Given the description of an element on the screen output the (x, y) to click on. 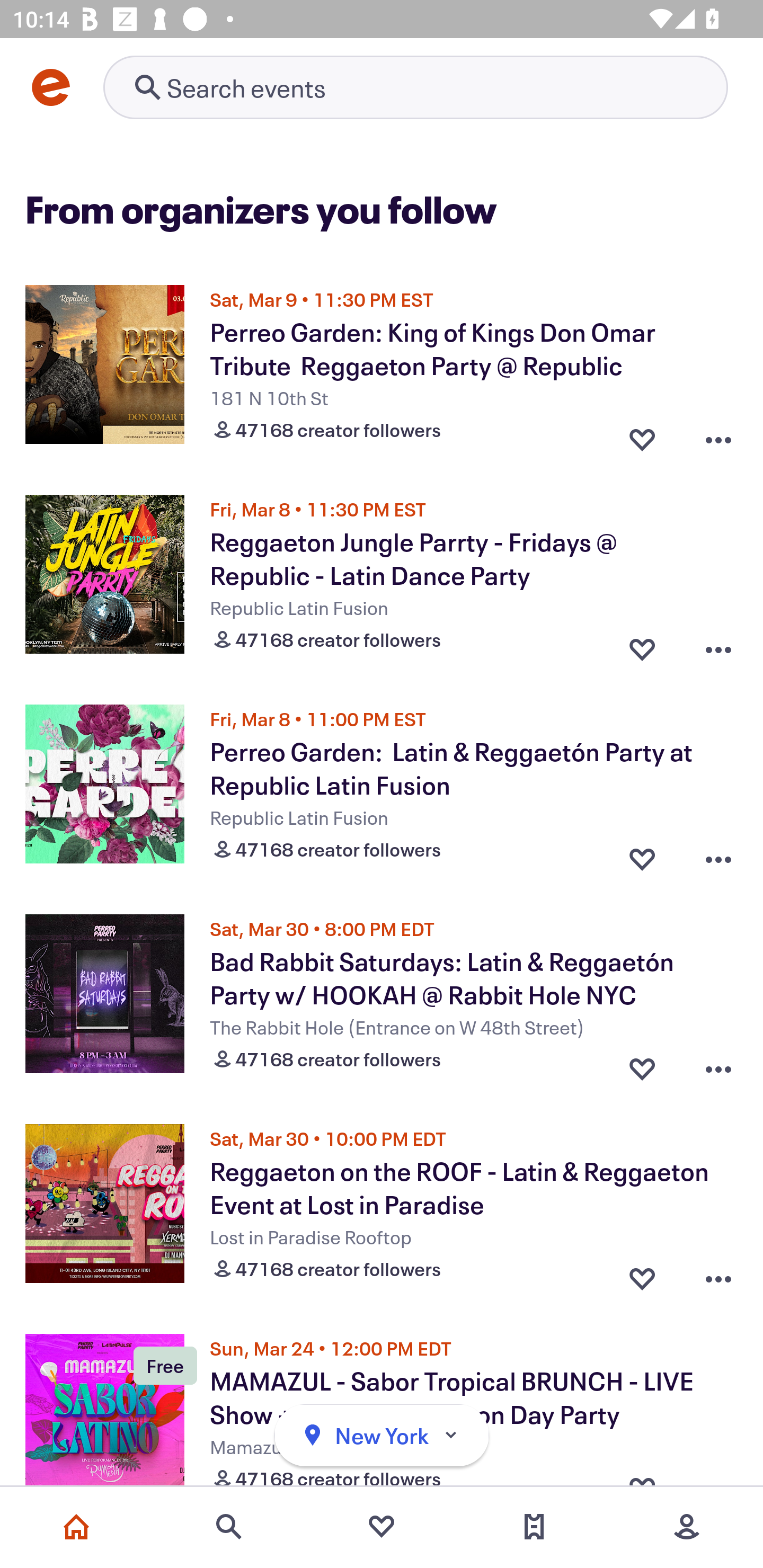
Retry's image Search events (415, 86)
Favorite button (642, 434)
Overflow menu button (718, 434)
Favorite button (642, 644)
Overflow menu button (718, 644)
Favorite button (642, 855)
Overflow menu button (718, 855)
Favorite button (642, 1065)
Overflow menu button (718, 1065)
Favorite button (642, 1274)
Overflow menu button (718, 1274)
New York (381, 1435)
Home (76, 1526)
Search events (228, 1526)
Favorites (381, 1526)
Tickets (533, 1526)
More (686, 1526)
